Given the description of an element on the screen output the (x, y) to click on. 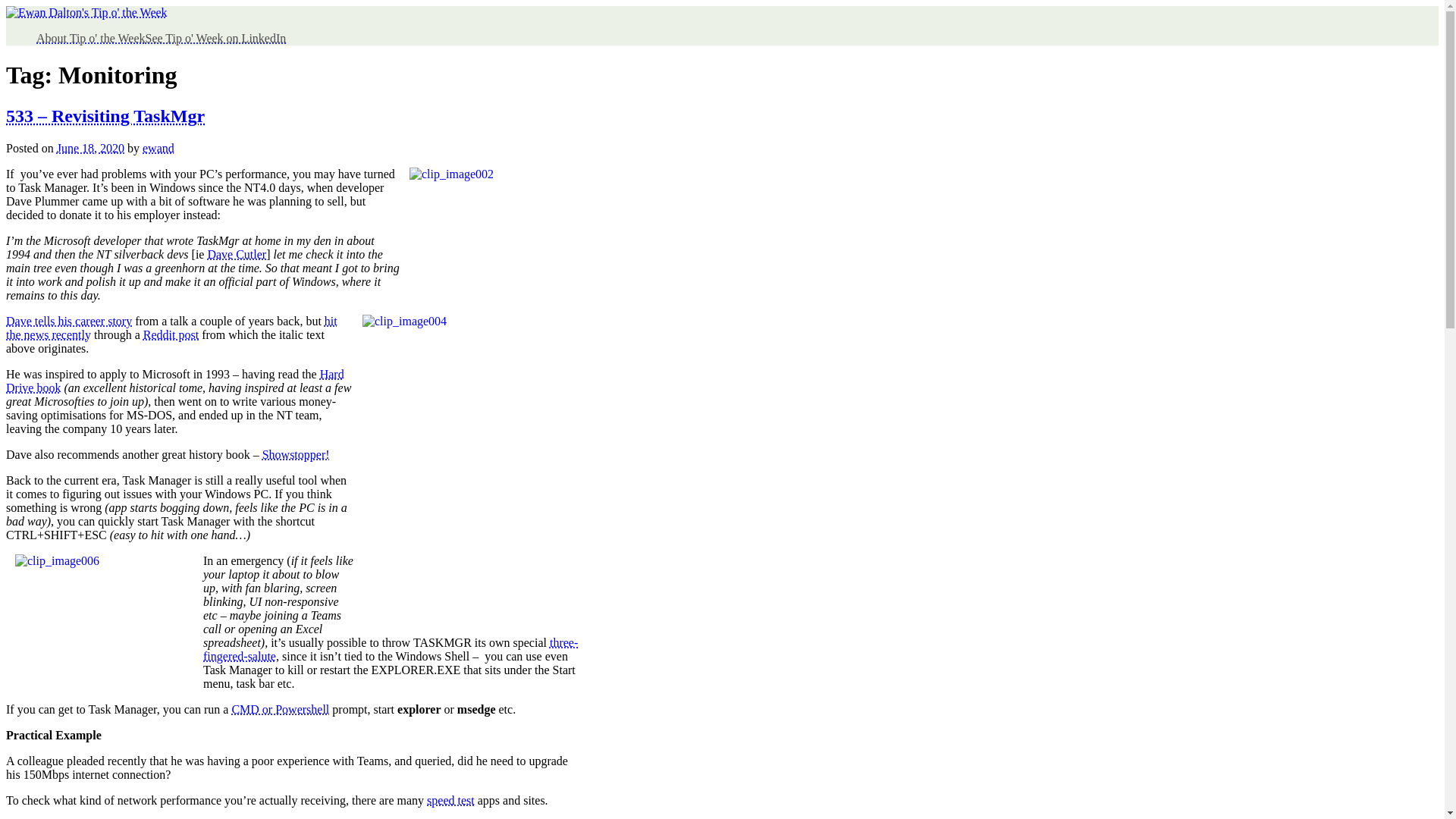
CMD or Powershell (280, 708)
June 18, 2020 (89, 147)
About Tip o' the Week (90, 38)
Hard Drive book (174, 380)
speed test (450, 799)
Reddit post (170, 334)
hit the news recently (171, 327)
three-fingered-salute (390, 649)
Dave Cutler (236, 254)
ewand (158, 147)
